Given the description of an element on the screen output the (x, y) to click on. 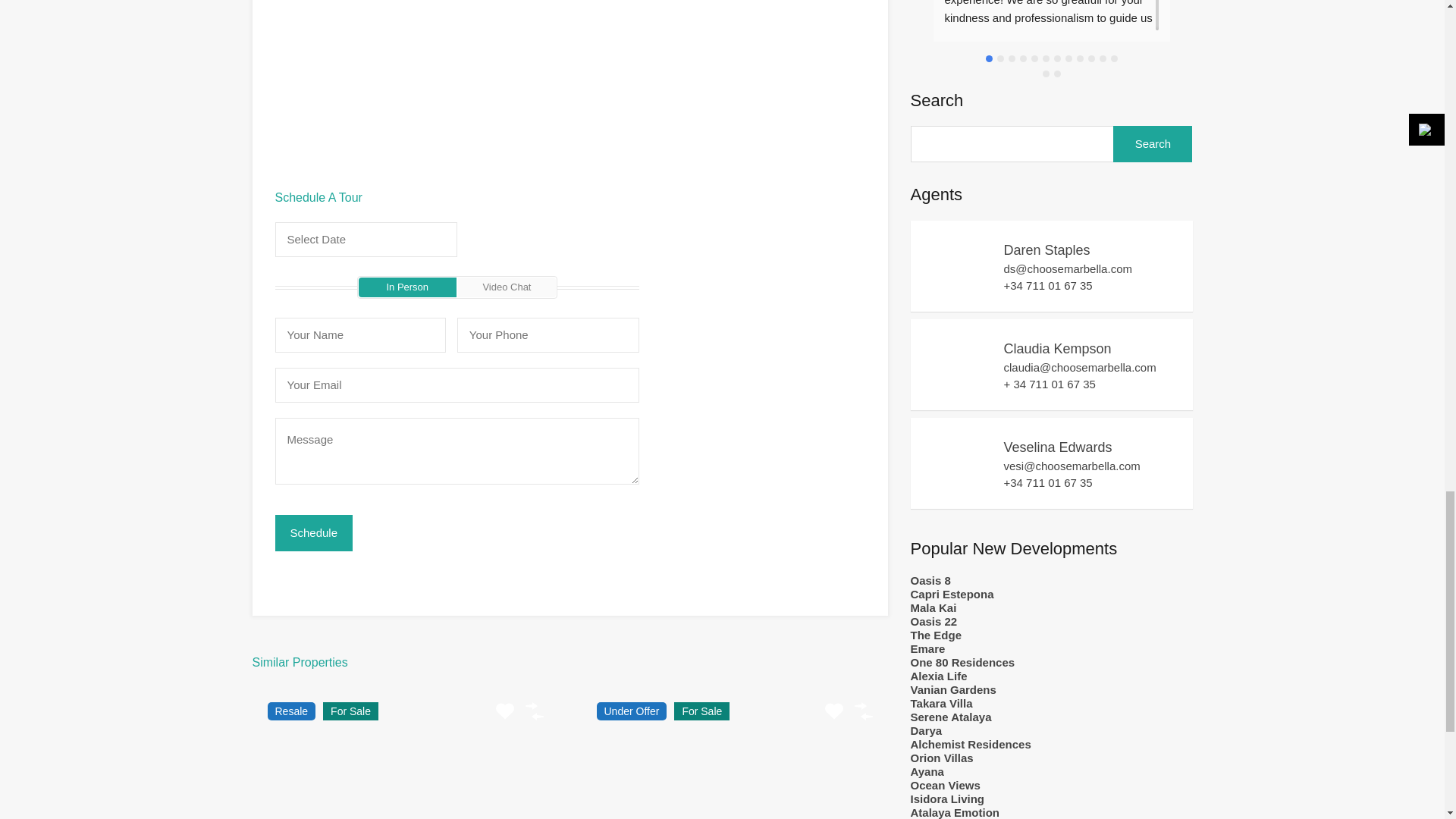
Search (1152, 144)
Select a suitable date. (366, 239)
Provide your email ID (457, 384)
Schedule (313, 533)
Provide your name (360, 334)
